Given the description of an element on the screen output the (x, y) to click on. 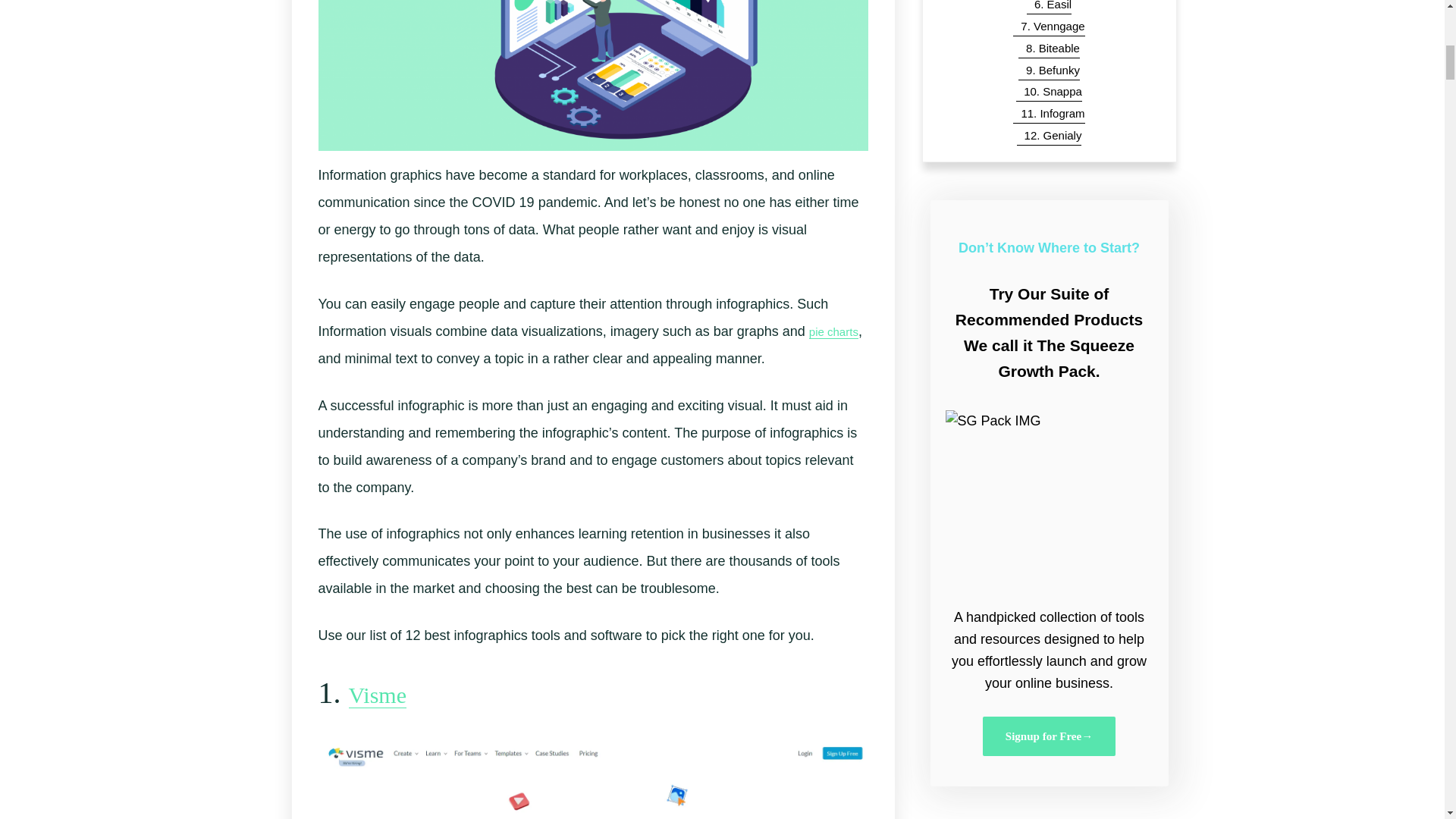
Visme (378, 695)
visme (592, 779)
Visme (378, 695)
12 Best Tools and Software to Create Pie Charts With Ease (834, 332)
pie charts (834, 332)
